Given the description of an element on the screen output the (x, y) to click on. 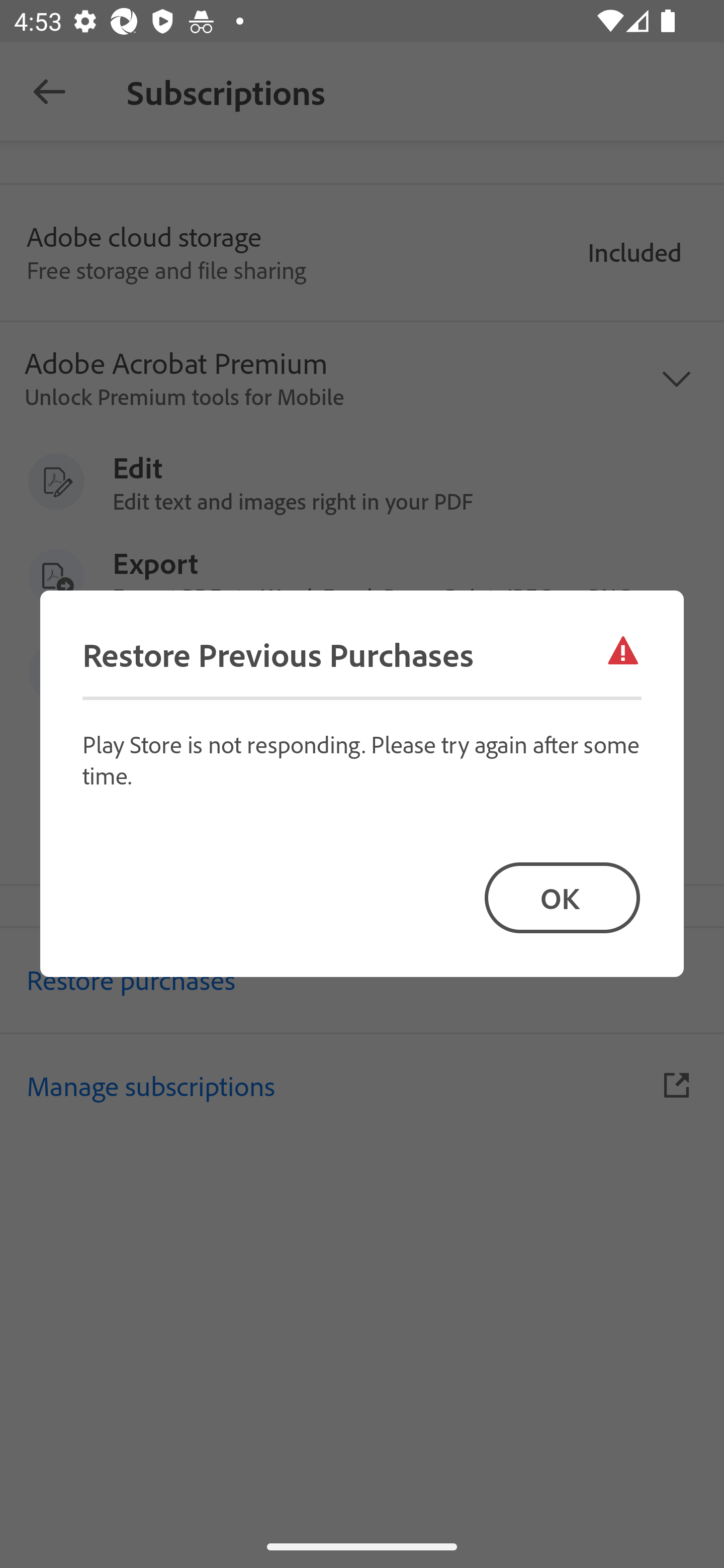
OK (561, 897)
